Given the description of an element on the screen output the (x, y) to click on. 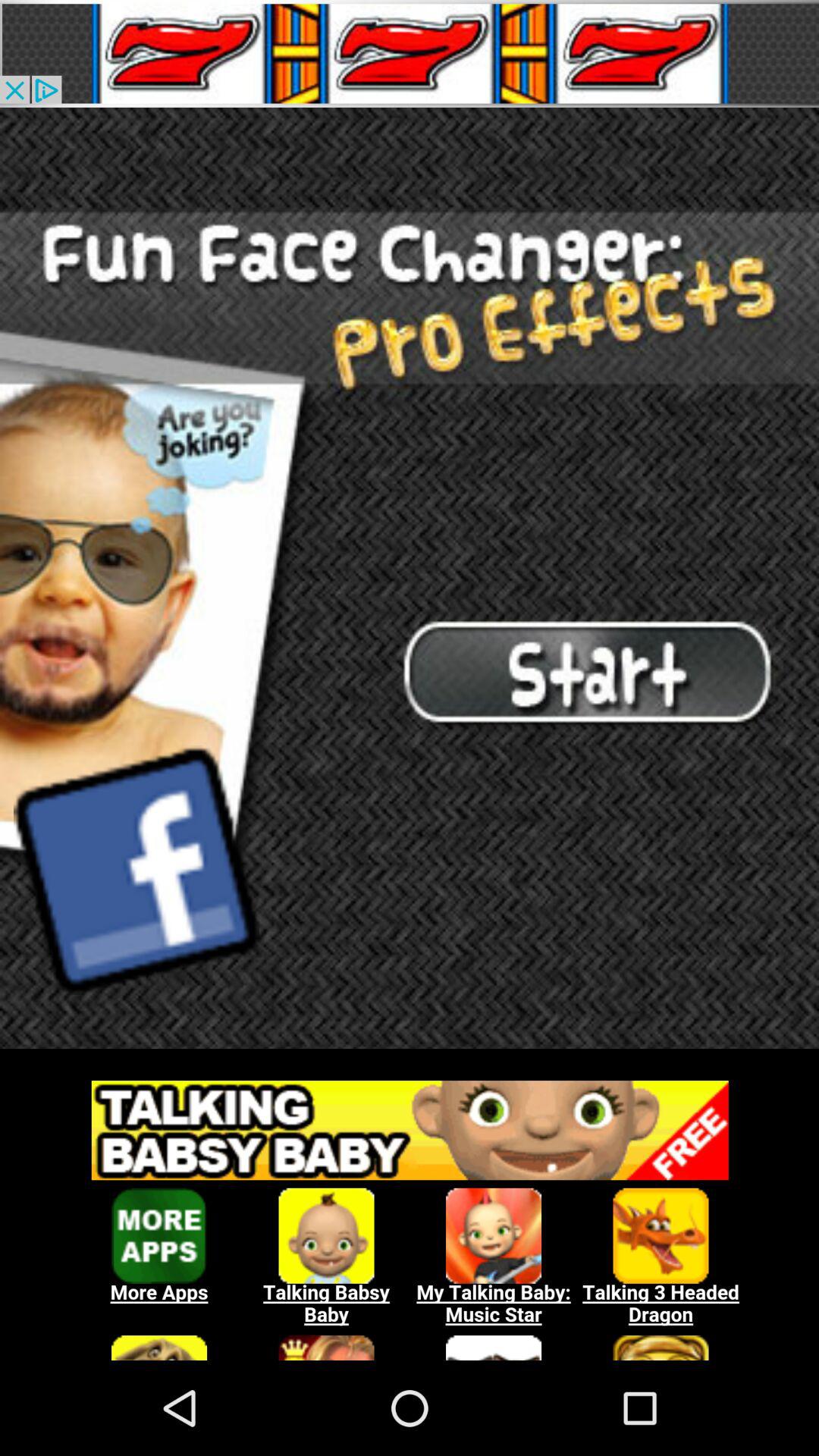
advertisements zone (409, 1212)
